Given the description of an element on the screen output the (x, y) to click on. 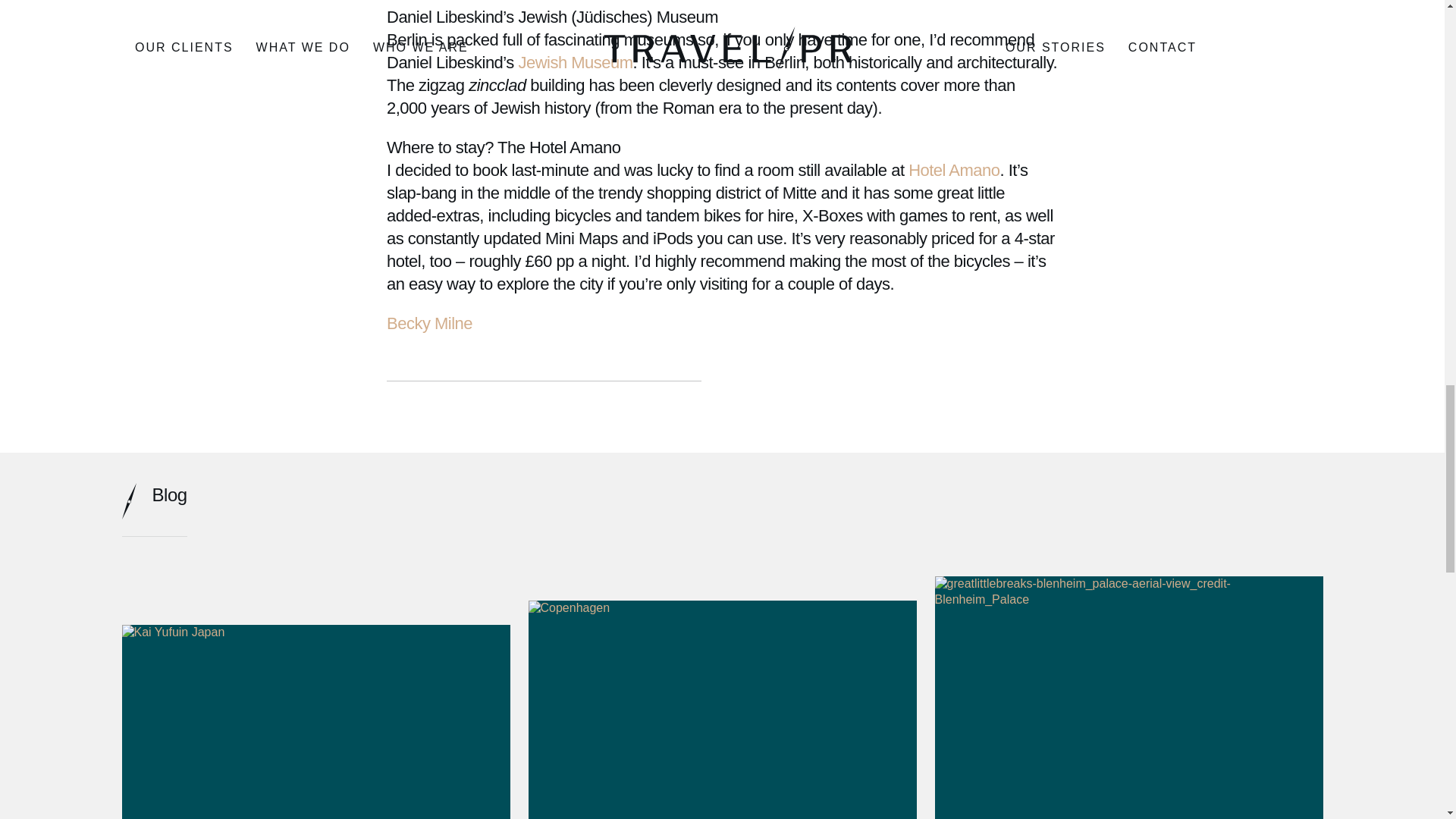
Becky Milne (429, 322)
Hotel Amano (953, 169)
Jewish Museum (574, 62)
